Given the description of an element on the screen output the (x, y) to click on. 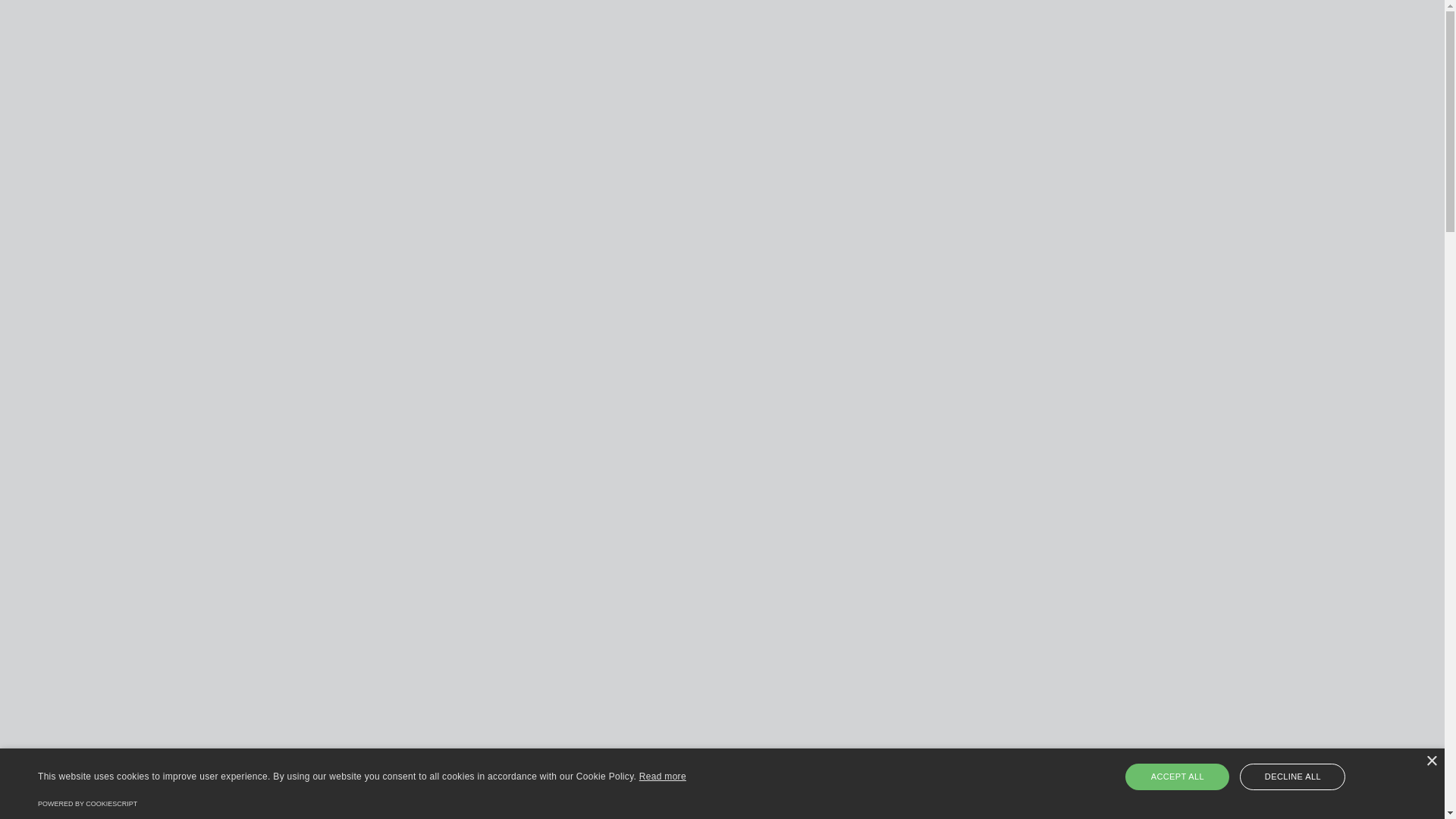
Log In Element type: text (24, 42)
LEARN MORE Element type: text (75, 577)
About Element type: text (1421, 58)
Store Element type: text (1423, 26)
About Element type: text (1100, 74)
H2H Digital Credentials Element type: text (1326, 74)
GET THE ADVANTAGE Element type: text (99, 311)
Read more Element type: text (662, 776)
Contact Element type: text (1417, 74)
Hydrogen Fundamentals Element type: text (1188, 74)
POWERED BY COOKIESCRIPT Element type: text (87, 803)
